Given the description of an element on the screen output the (x, y) to click on. 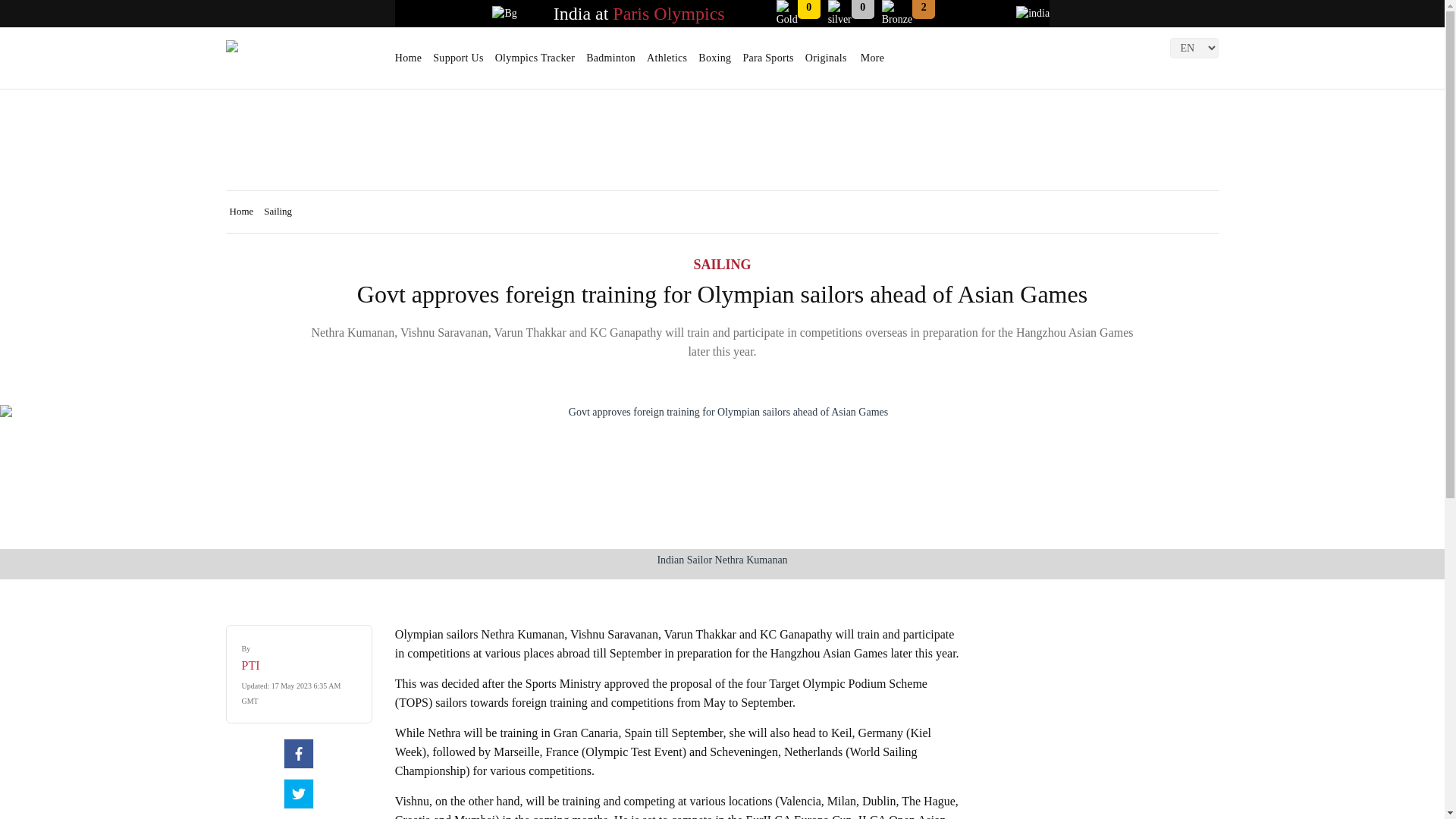
Olympics Tracker (535, 63)
Badminton (610, 63)
Support Us (457, 63)
Paris Olympics (667, 13)
Para Sports (767, 63)
